Given the description of an element on the screen output the (x, y) to click on. 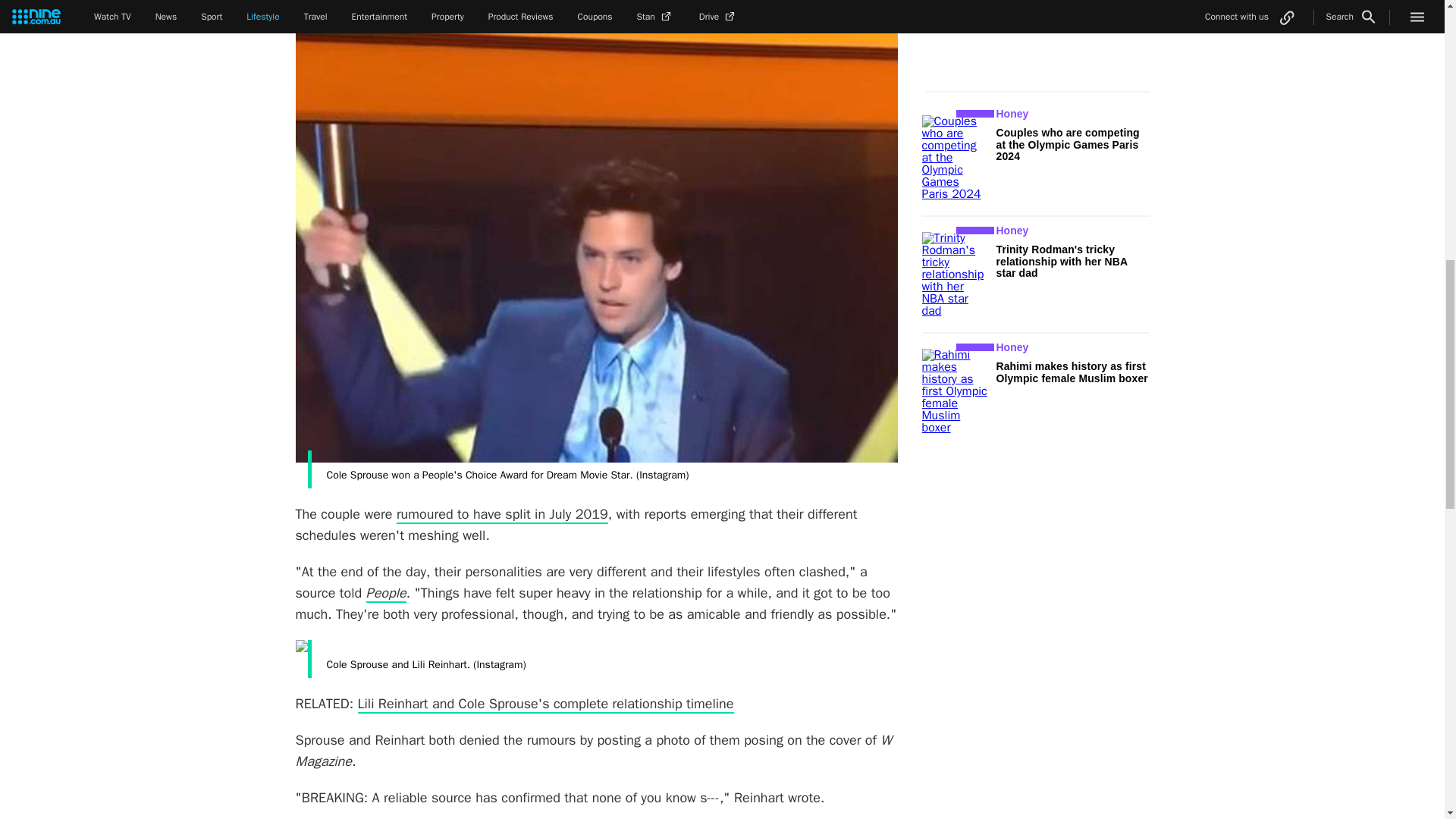
 rumoured to have split in July 2019 (502, 515)
People (386, 593)
rumoured to have split in July 2019 (502, 515)
